Given the description of an element on the screen output the (x, y) to click on. 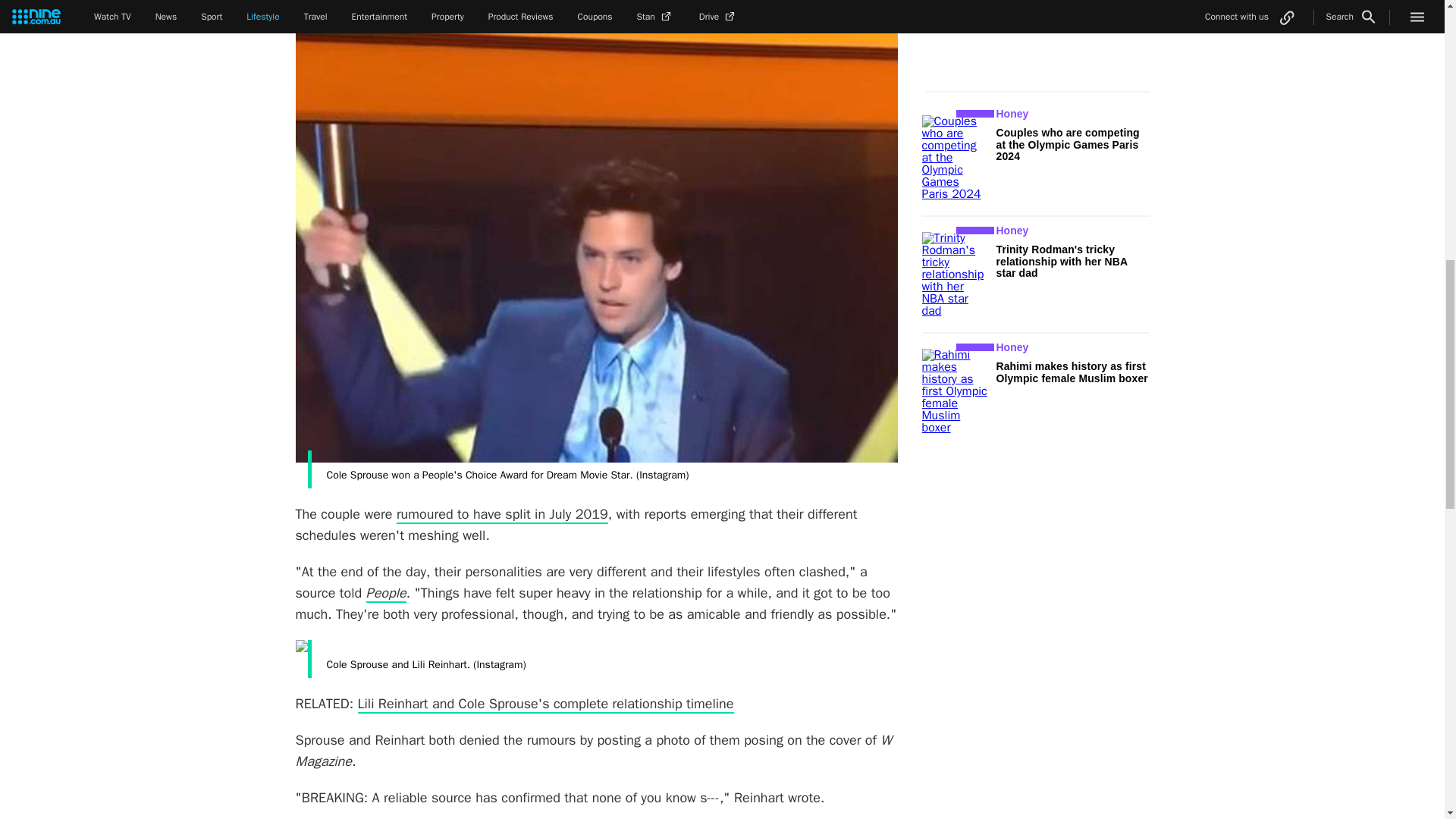
 rumoured to have split in July 2019 (502, 515)
People (386, 593)
rumoured to have split in July 2019 (502, 515)
